Given the description of an element on the screen output the (x, y) to click on. 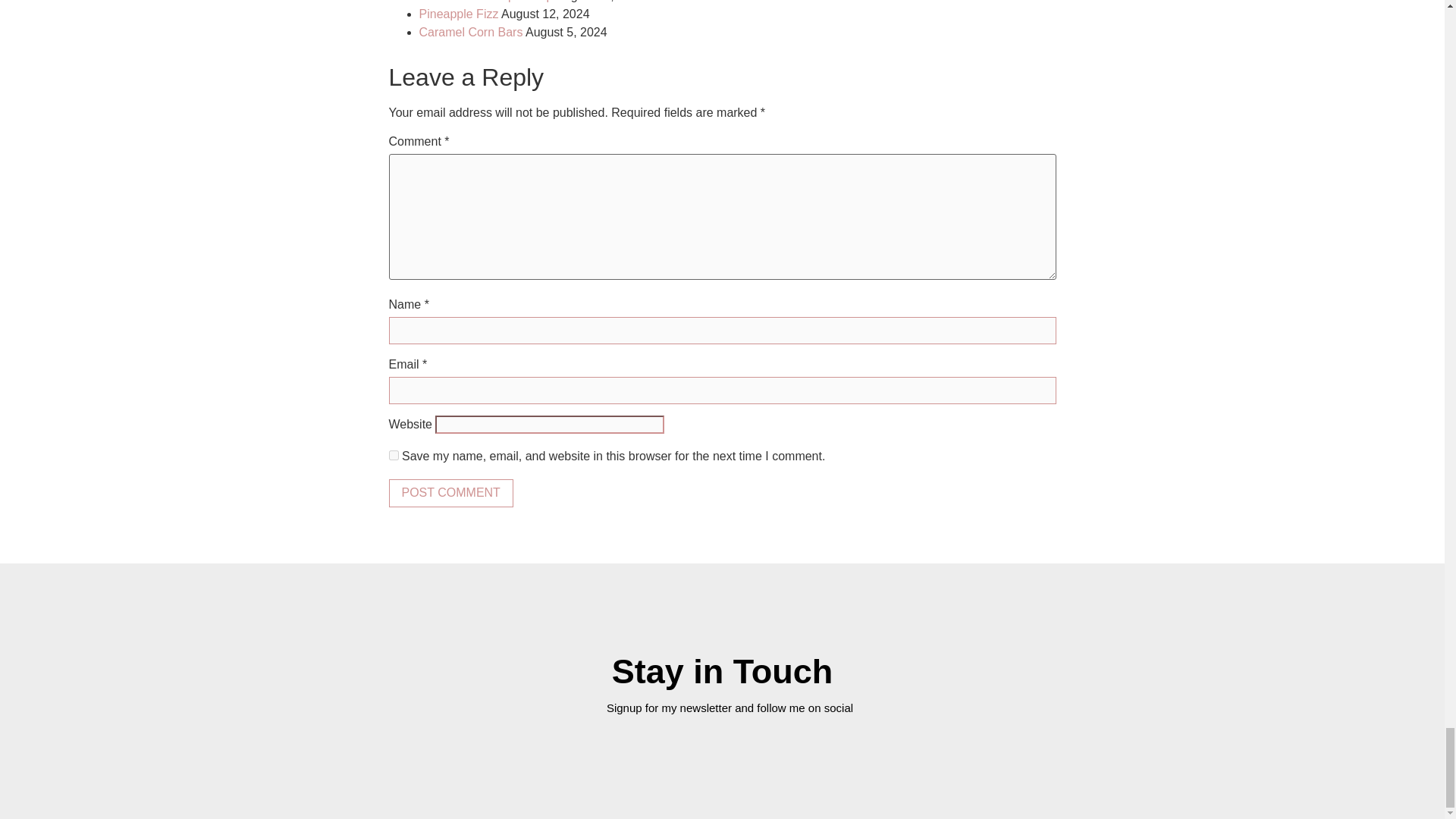
Post Comment (450, 492)
Caramel Corn Bars (470, 31)
Chilled Cantaloupe Soup (486, 1)
Pineapple Fizz (458, 13)
yes (392, 455)
